Given the description of an element on the screen output the (x, y) to click on. 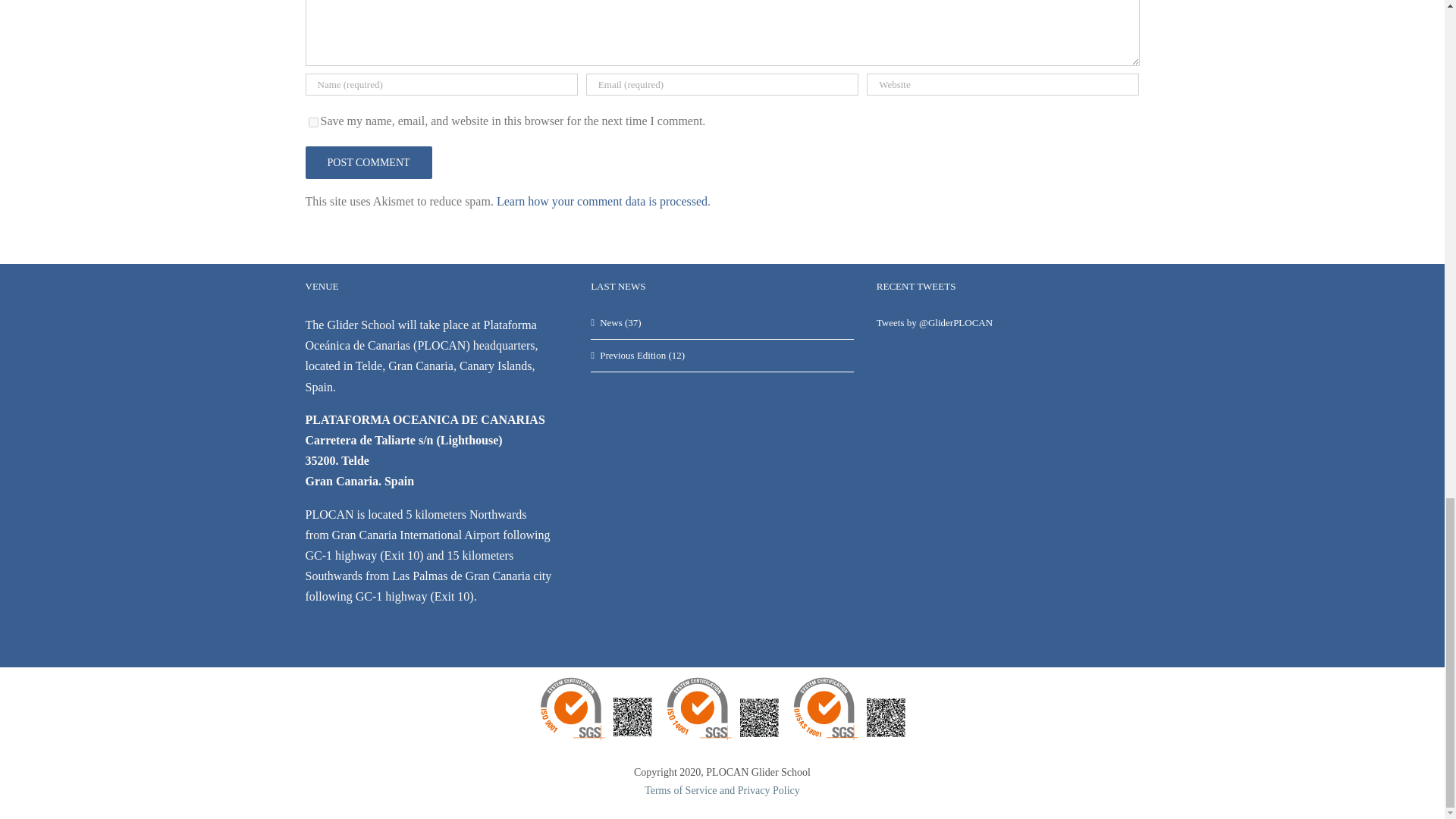
yes (312, 122)
Post Comment (367, 162)
